Given the description of an element on the screen output the (x, y) to click on. 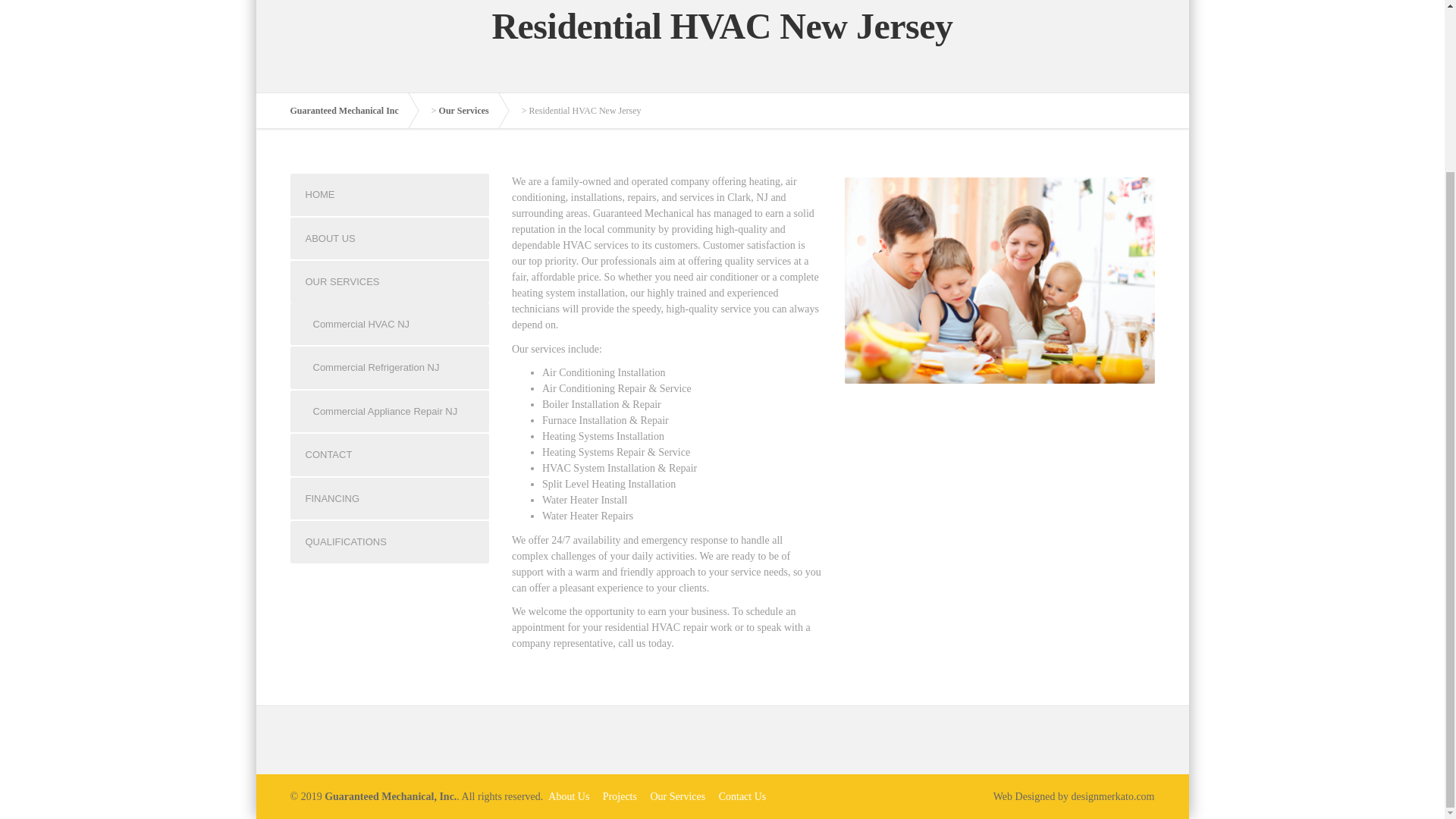
HOME (389, 194)
ABOUT US (389, 238)
FINANCING (389, 498)
Guaranteed Mechanical Inc (351, 110)
QUALIFICATIONS (389, 541)
Go to Our Services. (471, 110)
Our Services (677, 796)
Commercial HVAC NJ (389, 324)
Projects (619, 796)
Commercial Refrigeration NJ (389, 367)
